Given the description of an element on the screen output the (x, y) to click on. 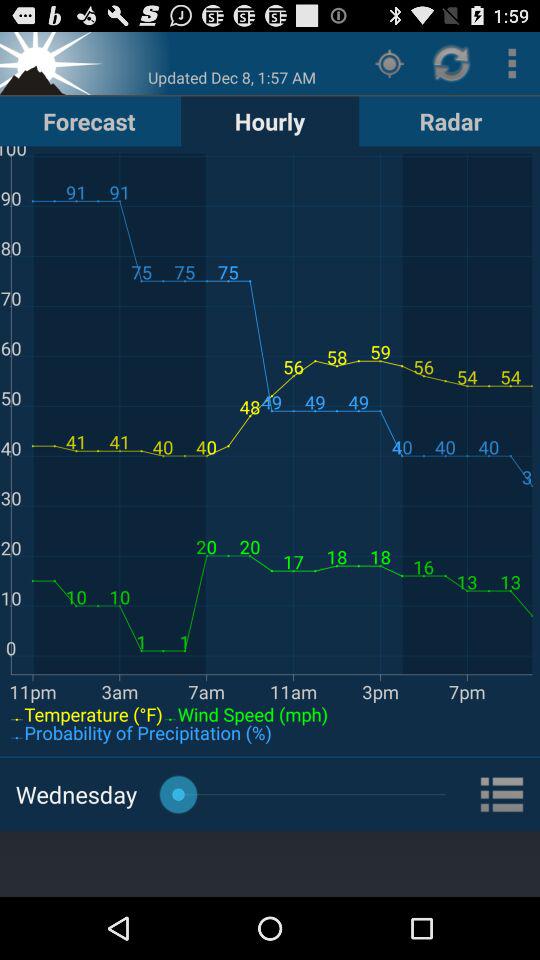
click on the icon at the top right corner of the page (511, 63)
